Given the description of an element on the screen output the (x, y) to click on. 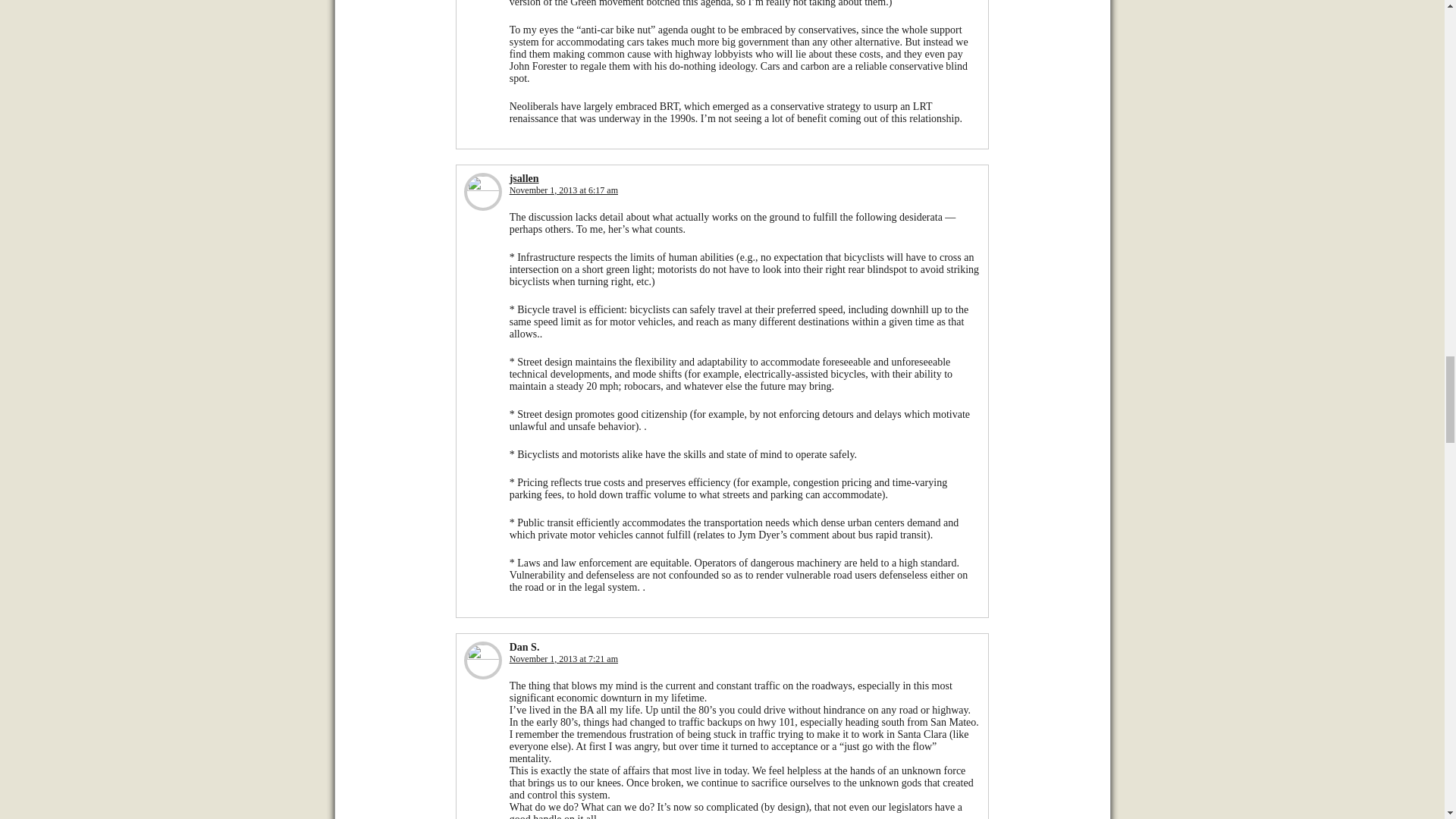
November 1, 2013 at 6:17 am (563, 190)
November 1, 2013 at 7:21 am (563, 658)
jsallen (523, 178)
